Given the description of an element on the screen output the (x, y) to click on. 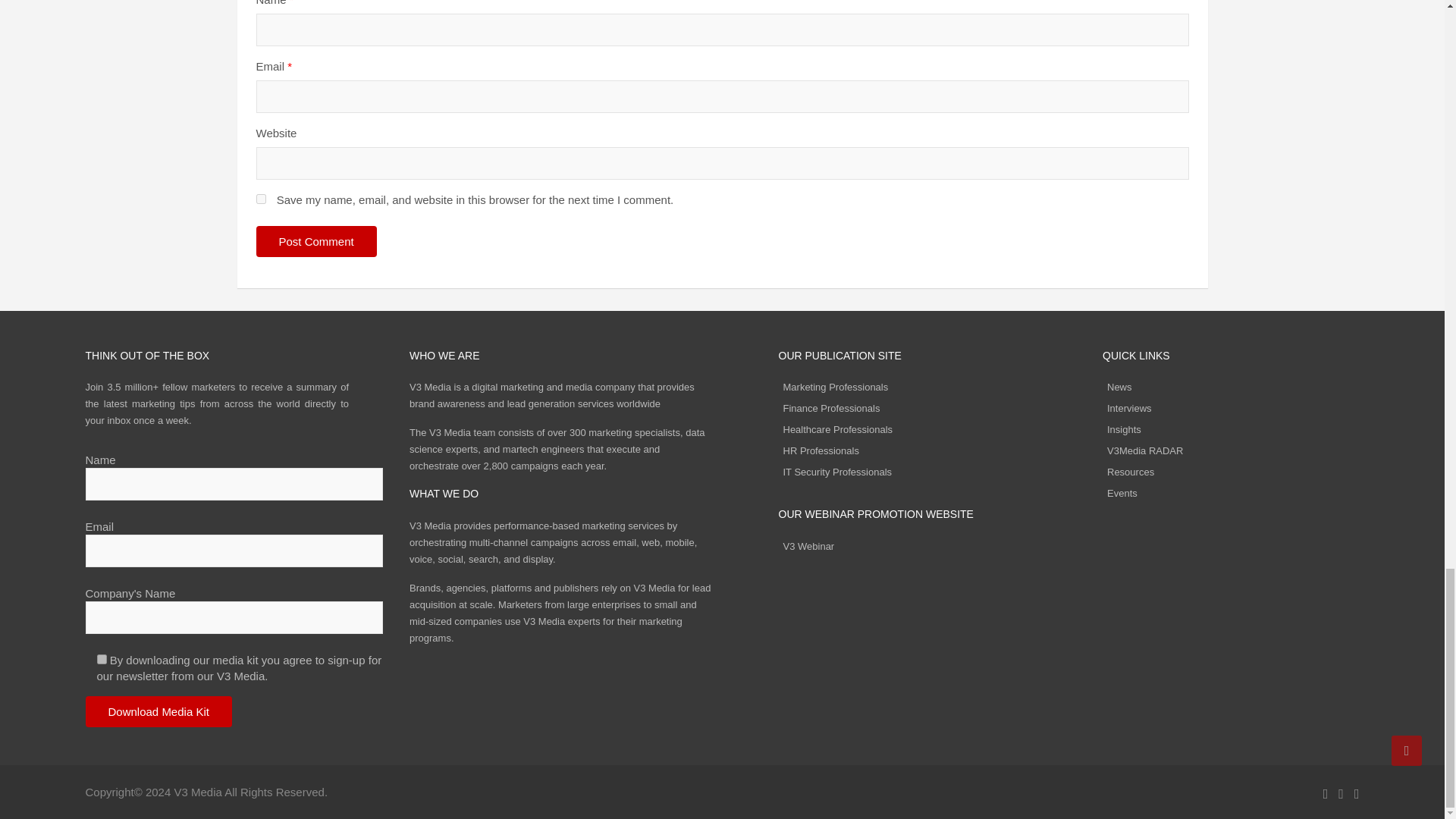
yes (261, 198)
Download Media Kit (157, 711)
Post Comment (316, 241)
